Given the description of an element on the screen output the (x, y) to click on. 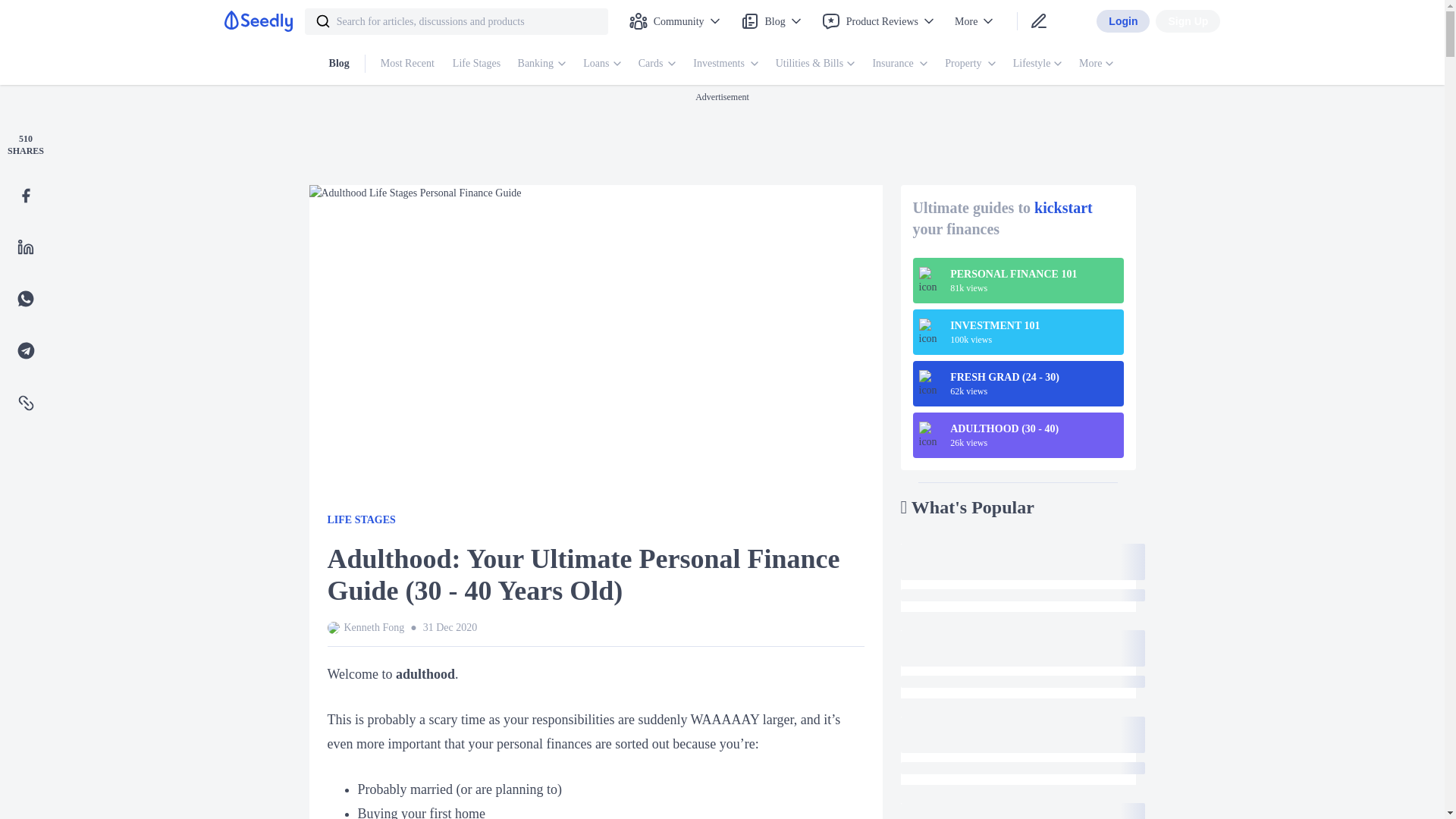
Loans (603, 63)
Blog (772, 20)
Insurance (894, 63)
Community (676, 20)
Login (1123, 20)
Most Recent (409, 63)
Banking (537, 63)
Product Reviews (878, 20)
Life Stages (477, 63)
Property (964, 63)
